Given the description of an element on the screen output the (x, y) to click on. 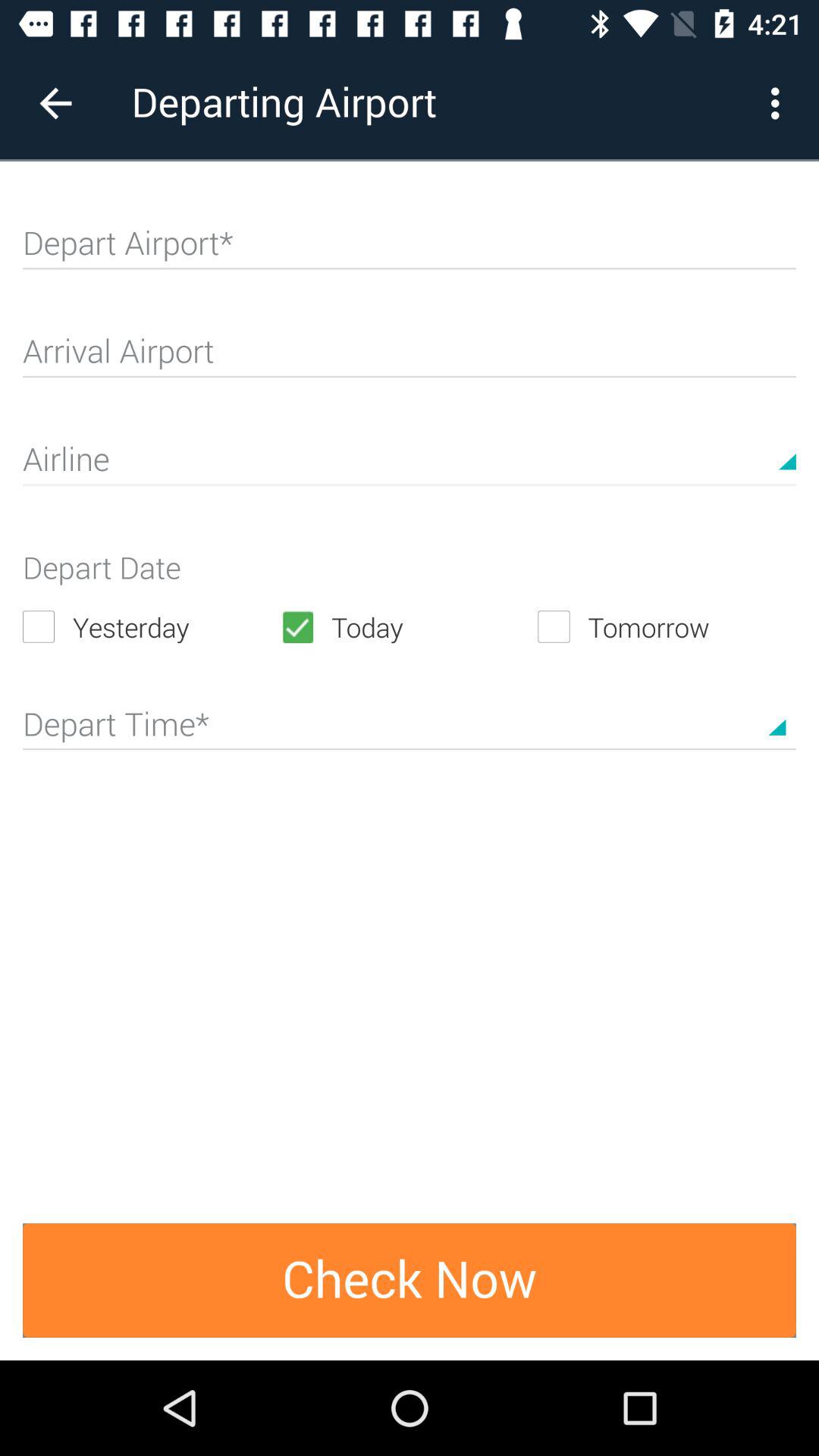
escolha de qual aeroporto ve quer partir (409, 249)
